Given the description of an element on the screen output the (x, y) to click on. 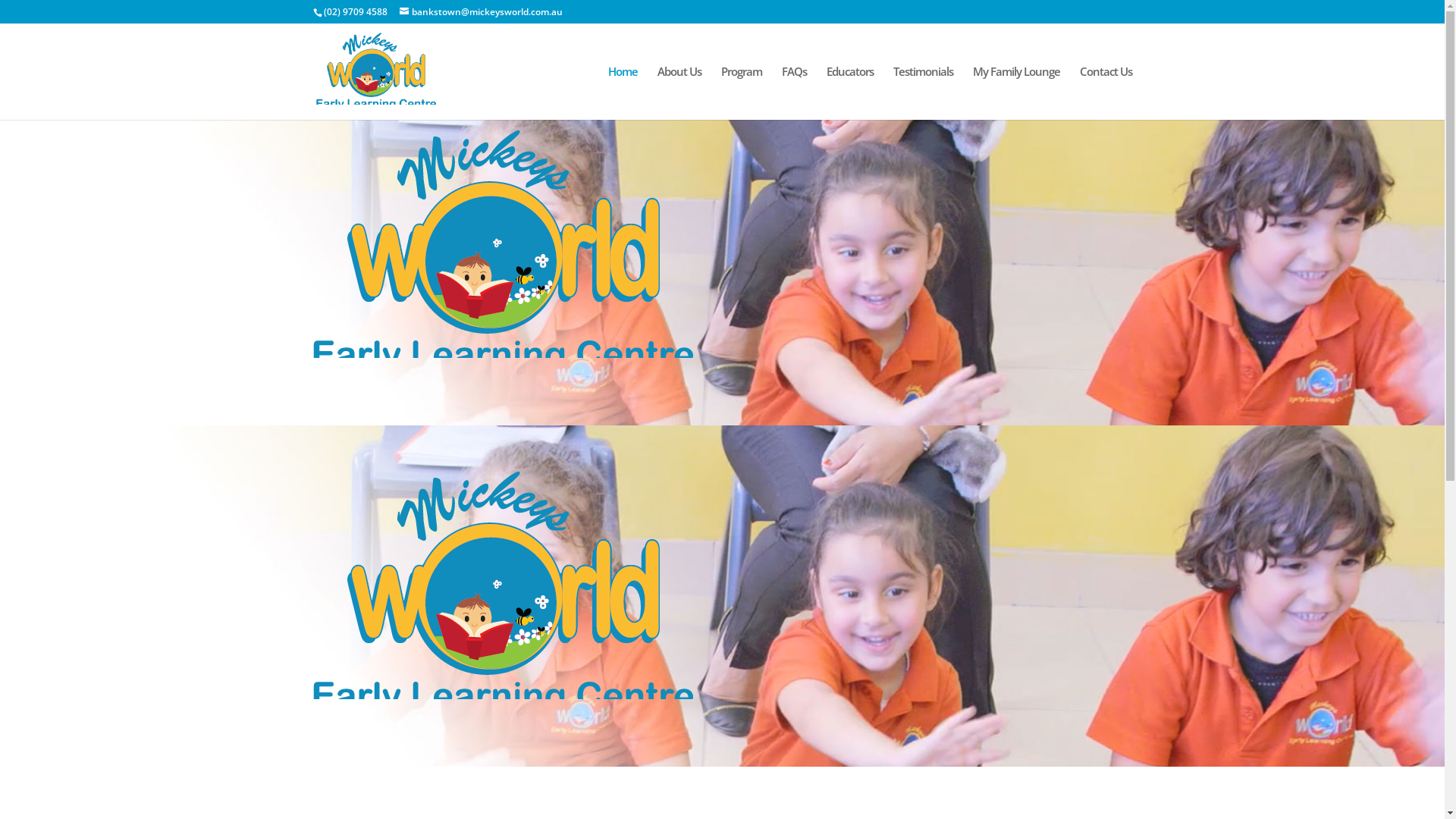
FAQs Element type: text (793, 92)
Contact Us Element type: text (1105, 92)
My Family Lounge Element type: text (1015, 92)
About Us Element type: text (678, 92)
Educators Element type: text (849, 92)
Testimonials Element type: text (923, 92)
Home Element type: text (622, 92)
bankstown@mickeysworld.com.au Element type: text (479, 11)
Program Element type: text (740, 92)
